Given the description of an element on the screen output the (x, y) to click on. 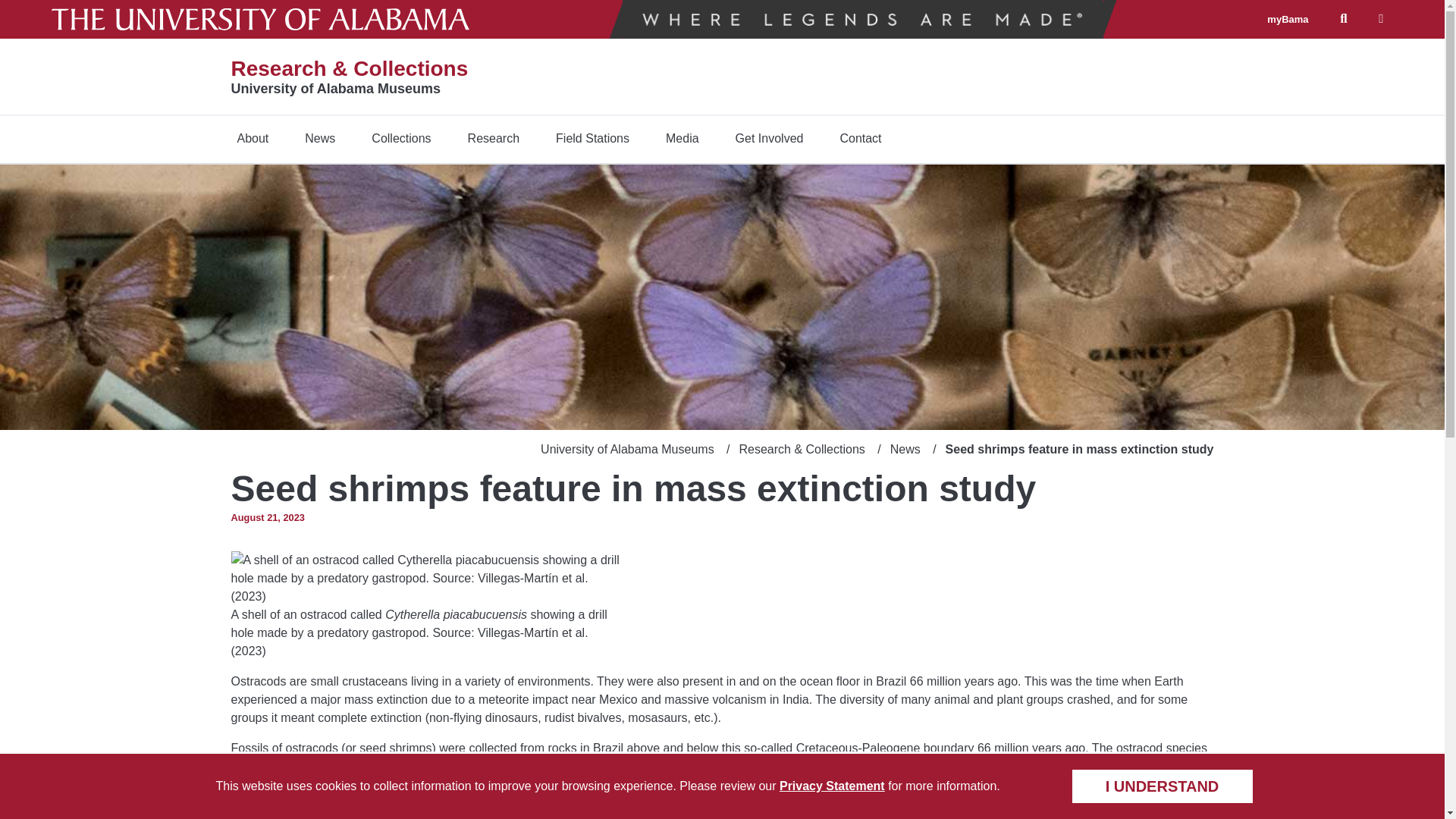
Where Legends Are Made (862, 19)
Research (493, 138)
Collections (400, 138)
myBama (1287, 19)
Collections (400, 138)
News (319, 138)
About (252, 138)
About (252, 138)
Field Stations (592, 138)
Field Stations (592, 138)
